Given the description of an element on the screen output the (x, y) to click on. 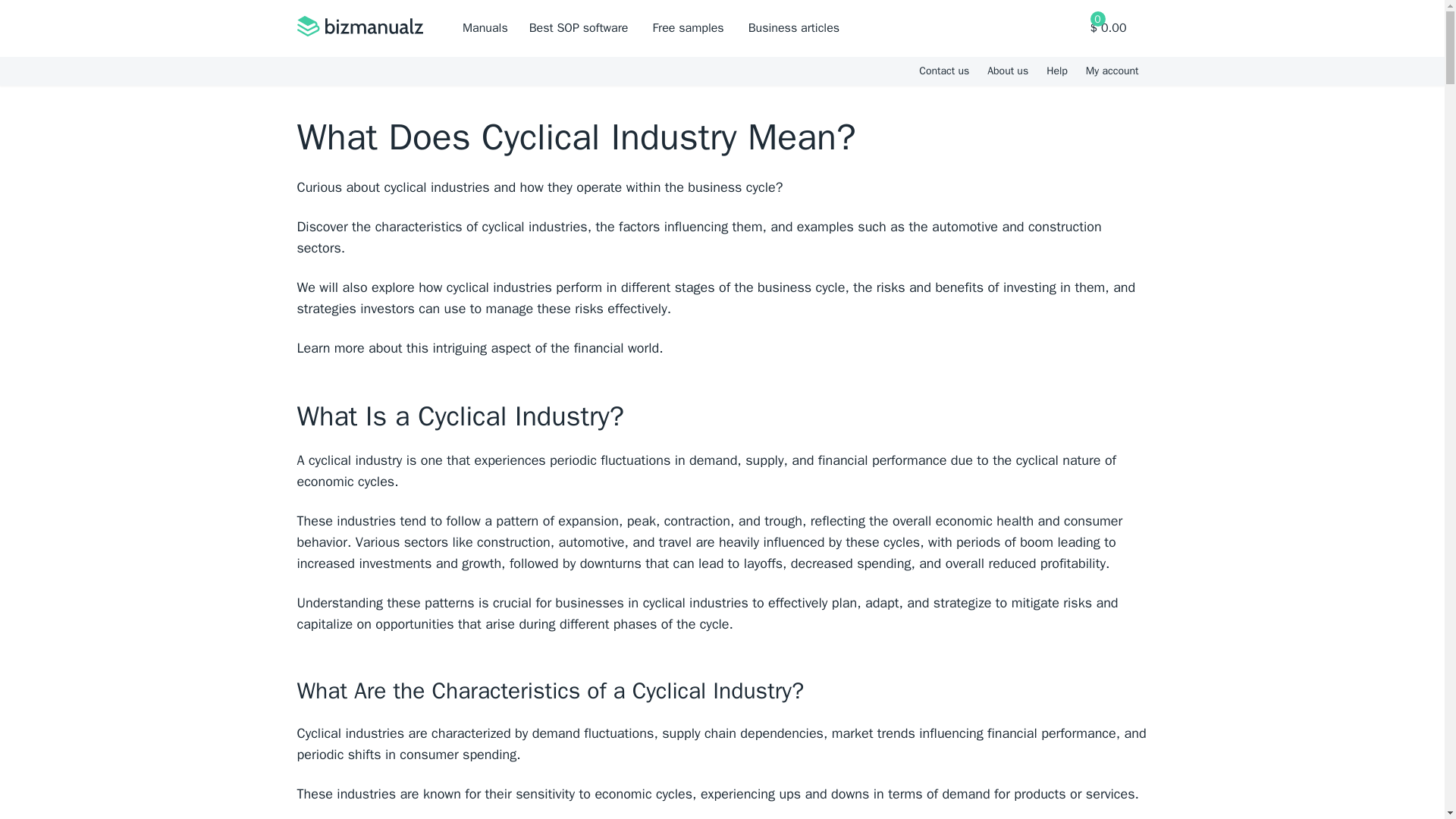
Bizmanualz (360, 28)
Business articles (794, 28)
Free samples (687, 28)
Best SOP software (578, 28)
